Given the description of an element on the screen output the (x, y) to click on. 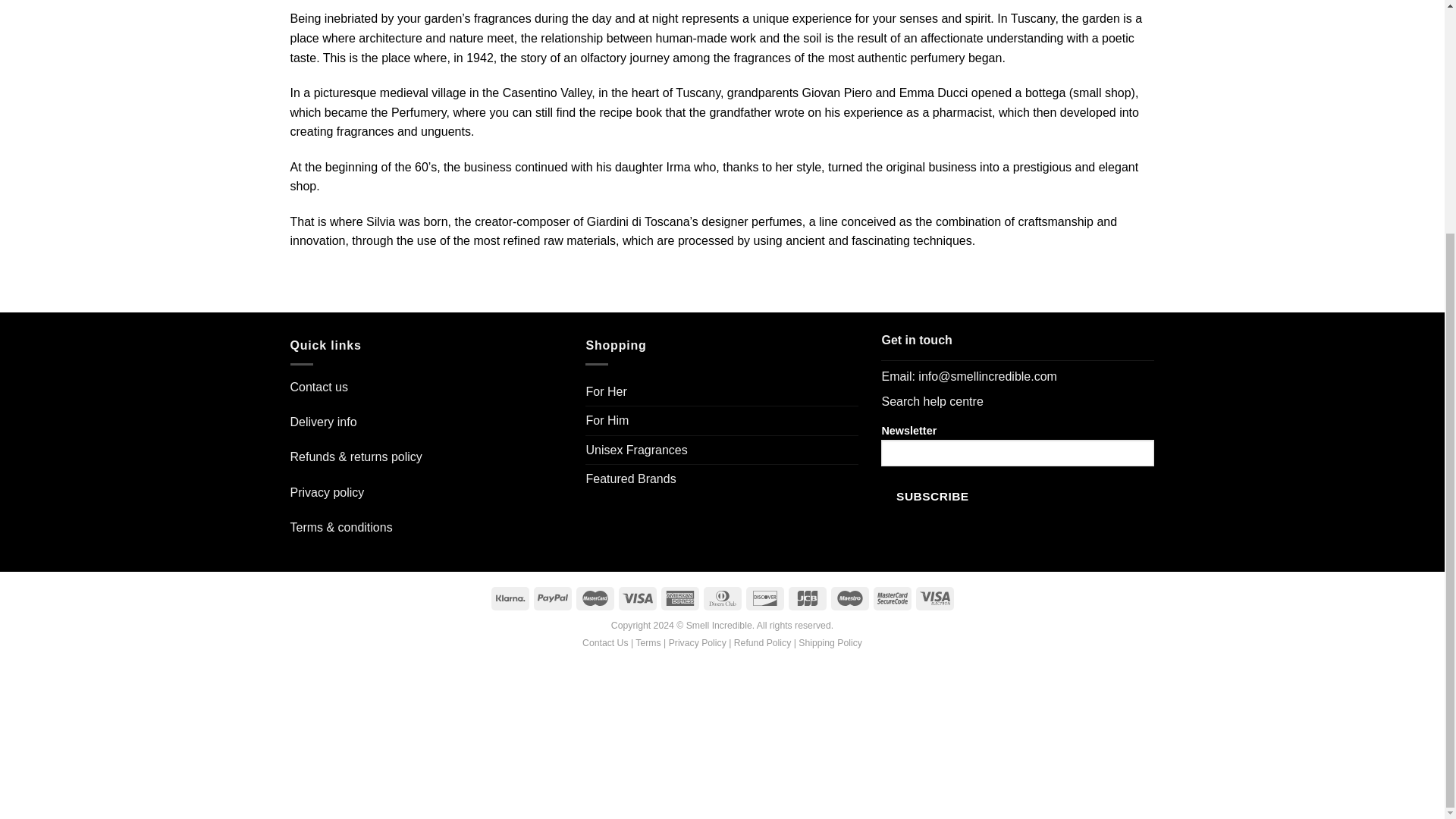
Subscribe (932, 496)
